Given the description of an element on the screen output the (x, y) to click on. 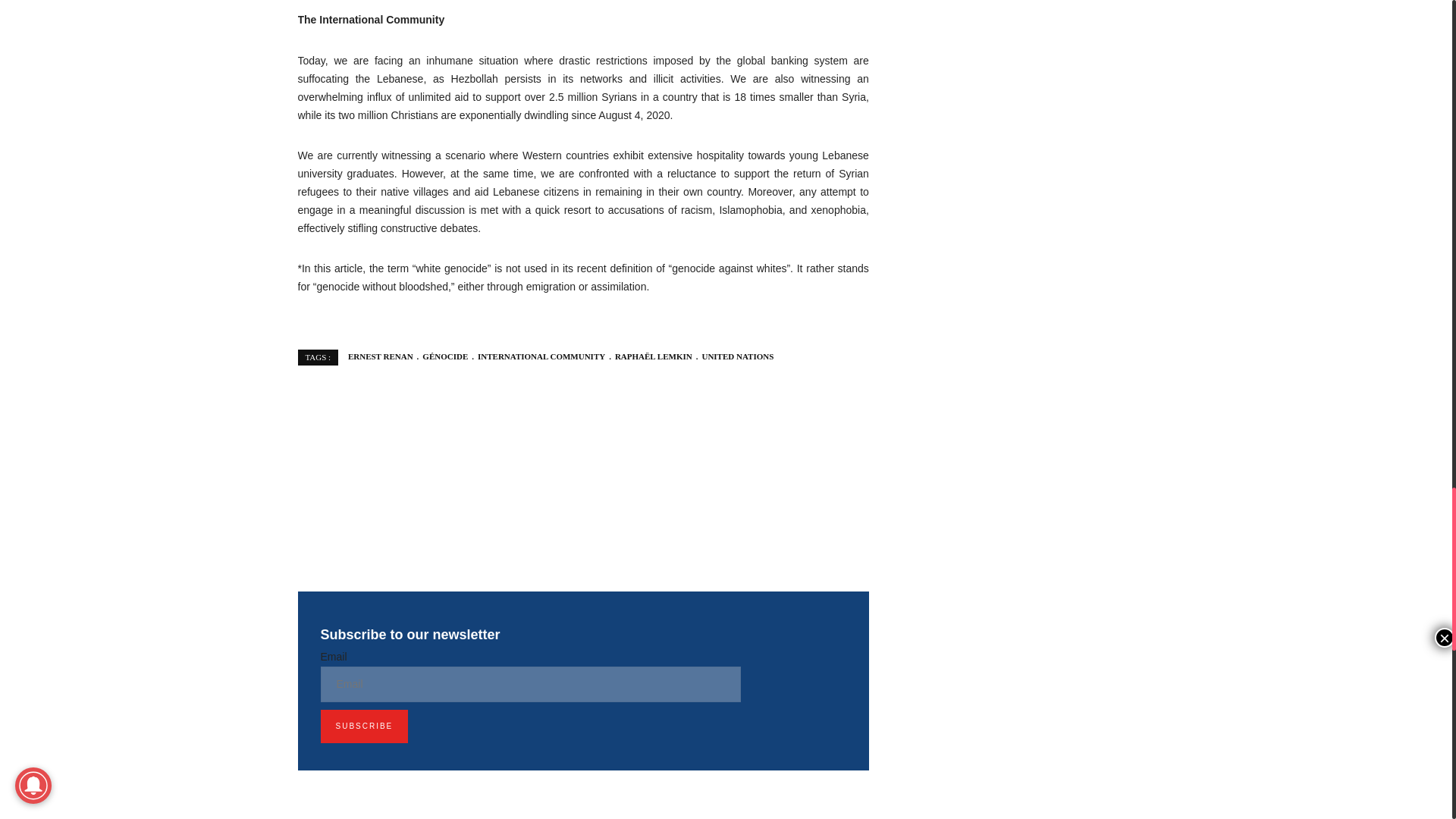
Subscribe (363, 726)
3rd party ad content (582, 475)
